Given the description of an element on the screen output the (x, y) to click on. 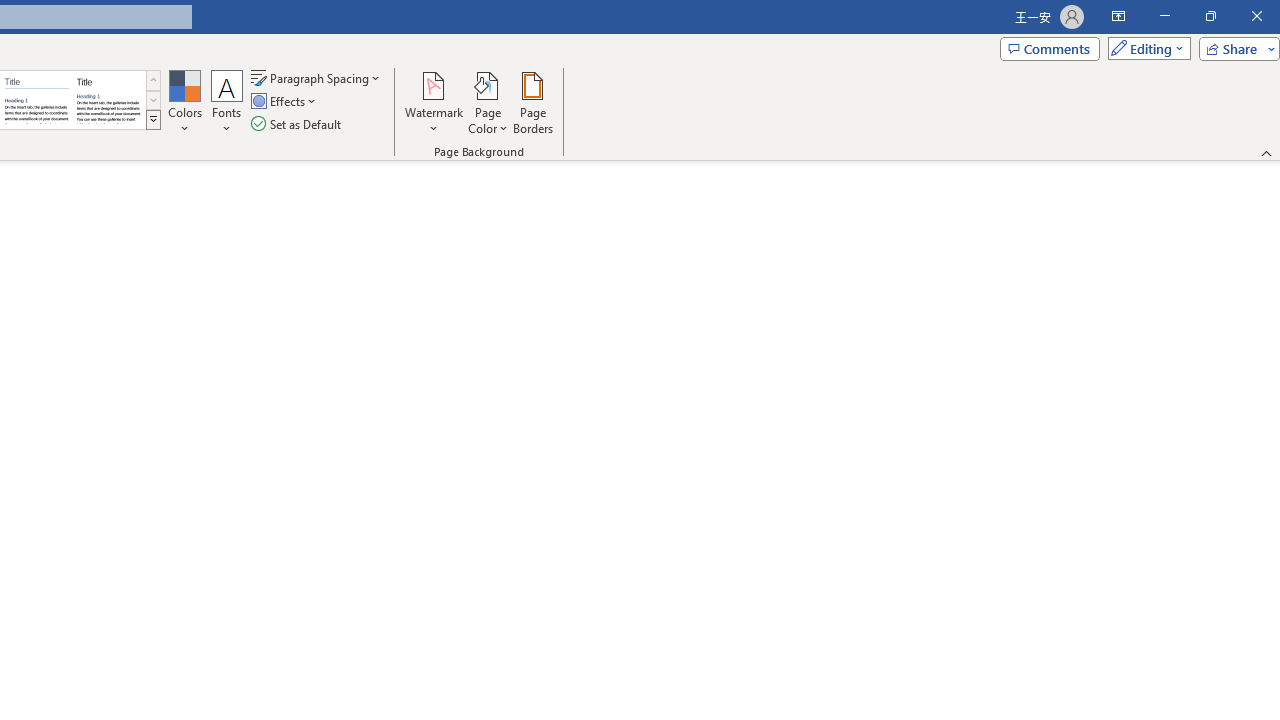
Word 2013 (108, 100)
Style Set (153, 120)
Colors (184, 102)
